Given the description of an element on the screen output the (x, y) to click on. 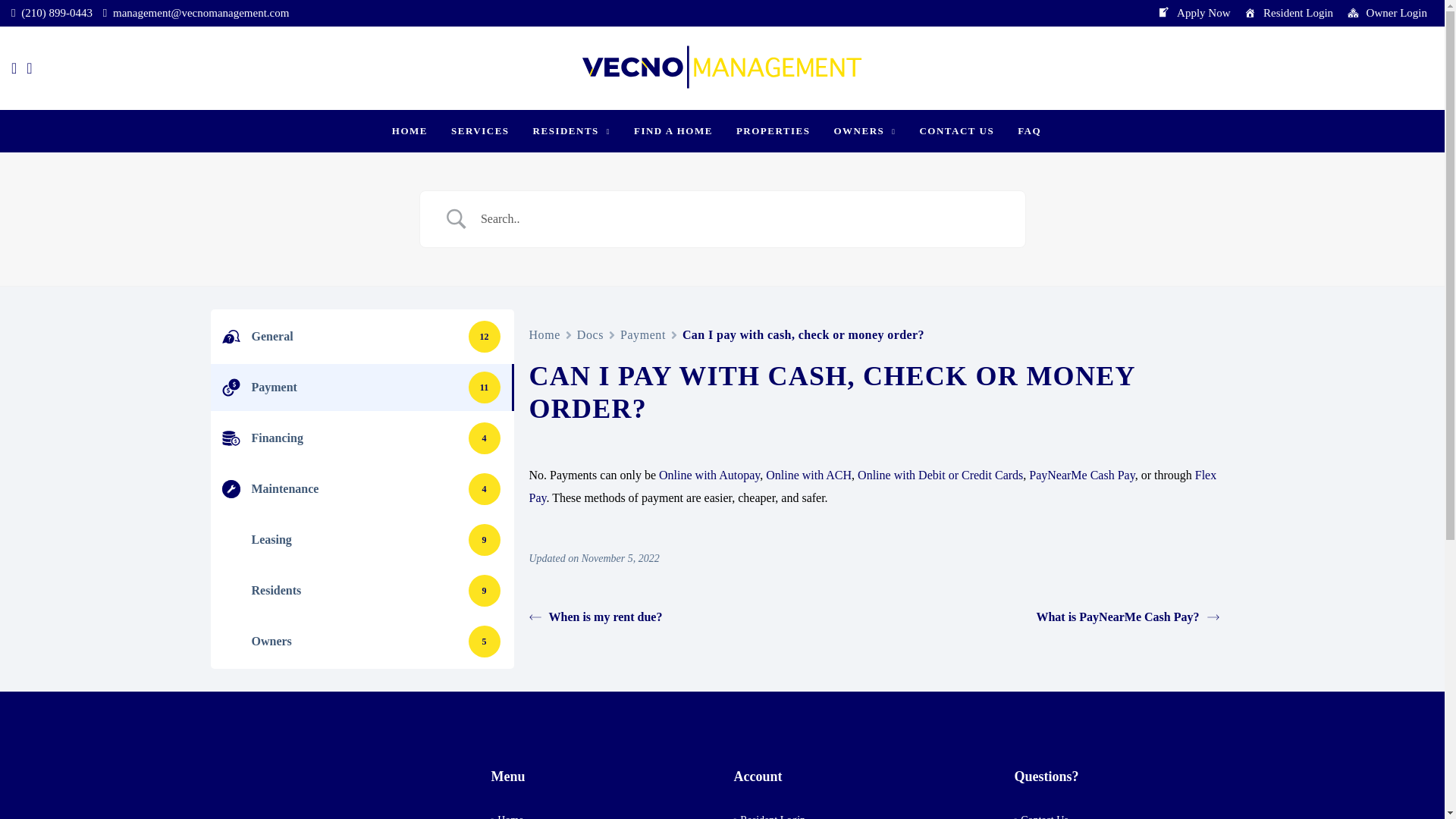
Home (544, 334)
SERVICES (480, 130)
Apply Now (1193, 13)
HOME (409, 130)
PROPERTIES (773, 130)
OWNERS (864, 131)
Payment (642, 334)
Resident Login (1287, 13)
RESIDENTS (571, 131)
FIND A HOME (673, 130)
Docs (590, 334)
Owner Login (1385, 13)
